Given the description of an element on the screen output the (x, y) to click on. 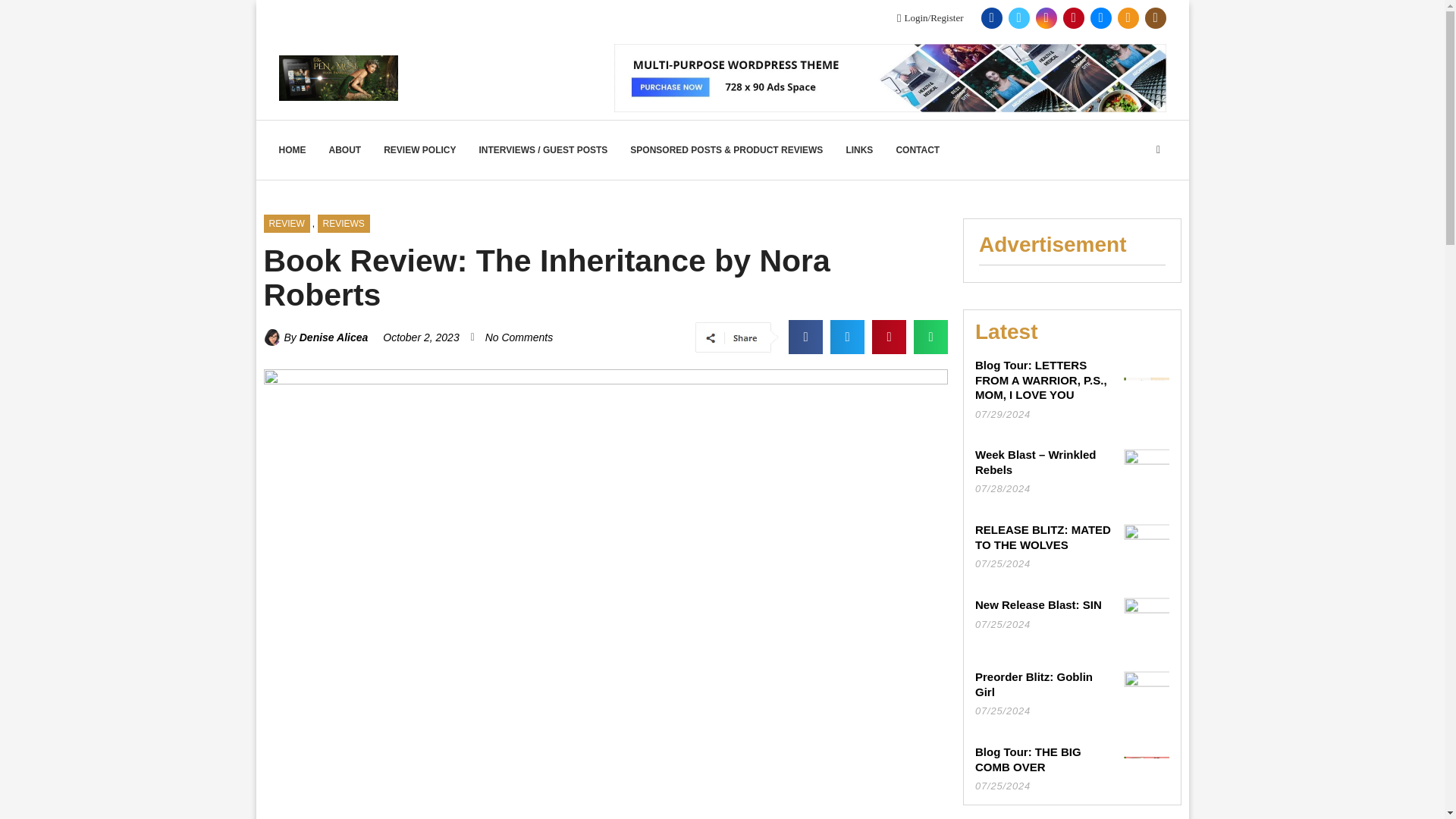
REVIEW POLICY (419, 149)
CONTACT (917, 149)
